Given the description of an element on the screen output the (x, y) to click on. 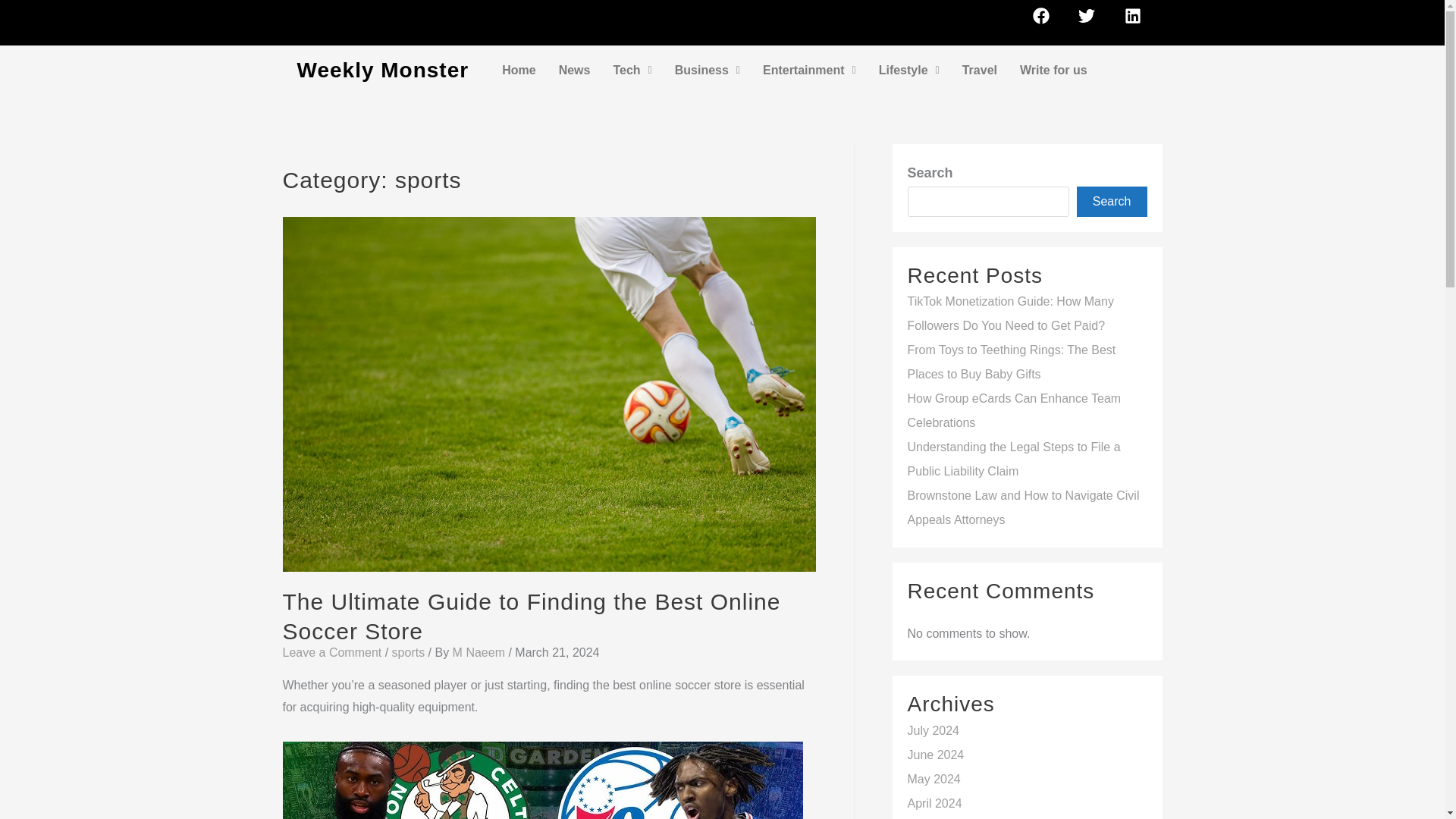
Home (518, 70)
Travel (979, 70)
Lifestyle (908, 70)
Weekly Monster (382, 69)
Business (707, 70)
Tech (631, 70)
View all posts by M Naeem (480, 652)
Entertainment (809, 70)
News (574, 70)
